Given the description of an element on the screen output the (x, y) to click on. 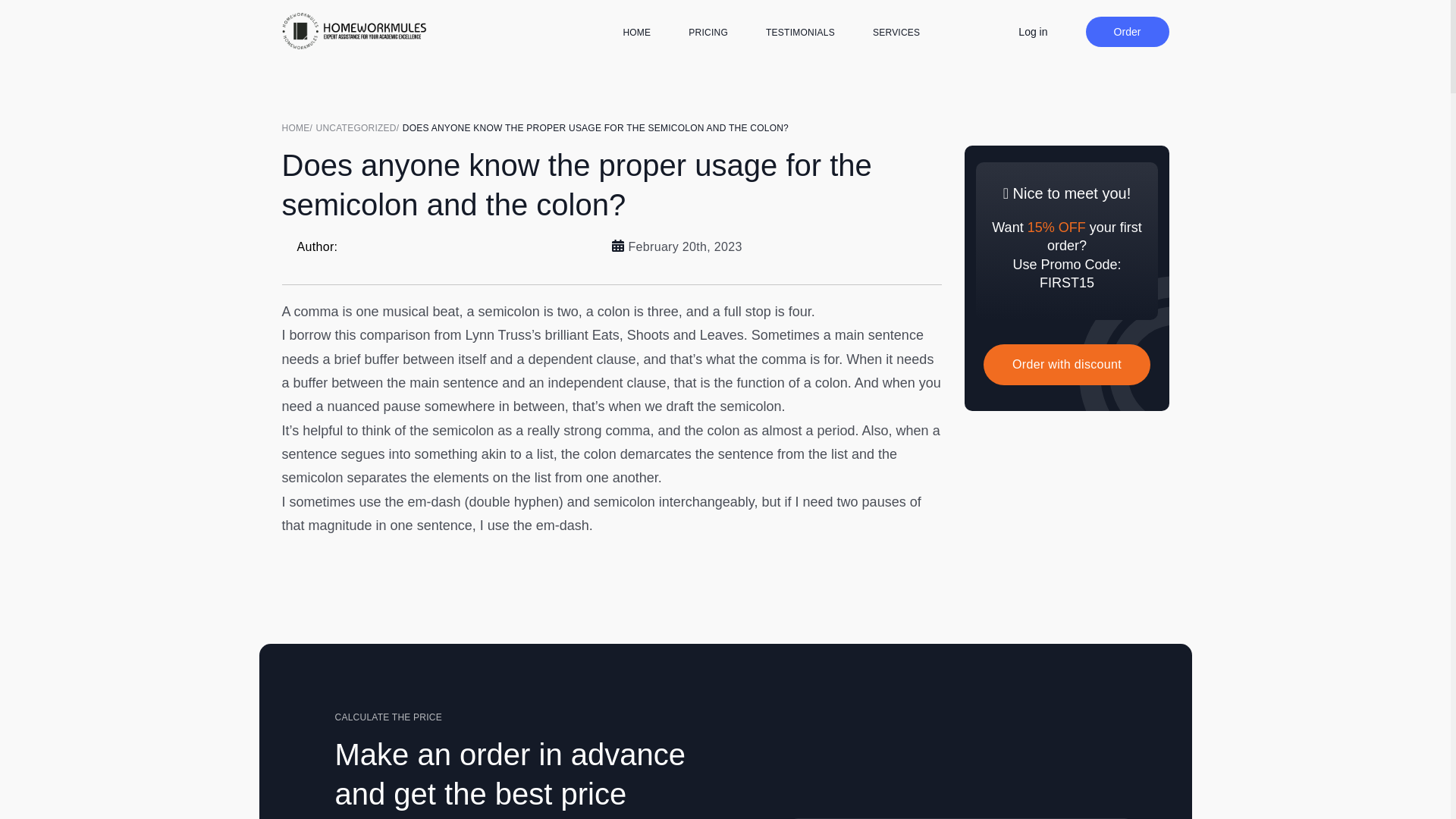
HOME (298, 126)
Go to Homework Mules (298, 126)
SERVICES (896, 32)
PRICING (708, 32)
TESTIMONIALS (799, 32)
Log in (1031, 31)
Order with discount (1066, 363)
Order (1127, 31)
HOME (636, 32)
